Given the description of an element on the screen output the (x, y) to click on. 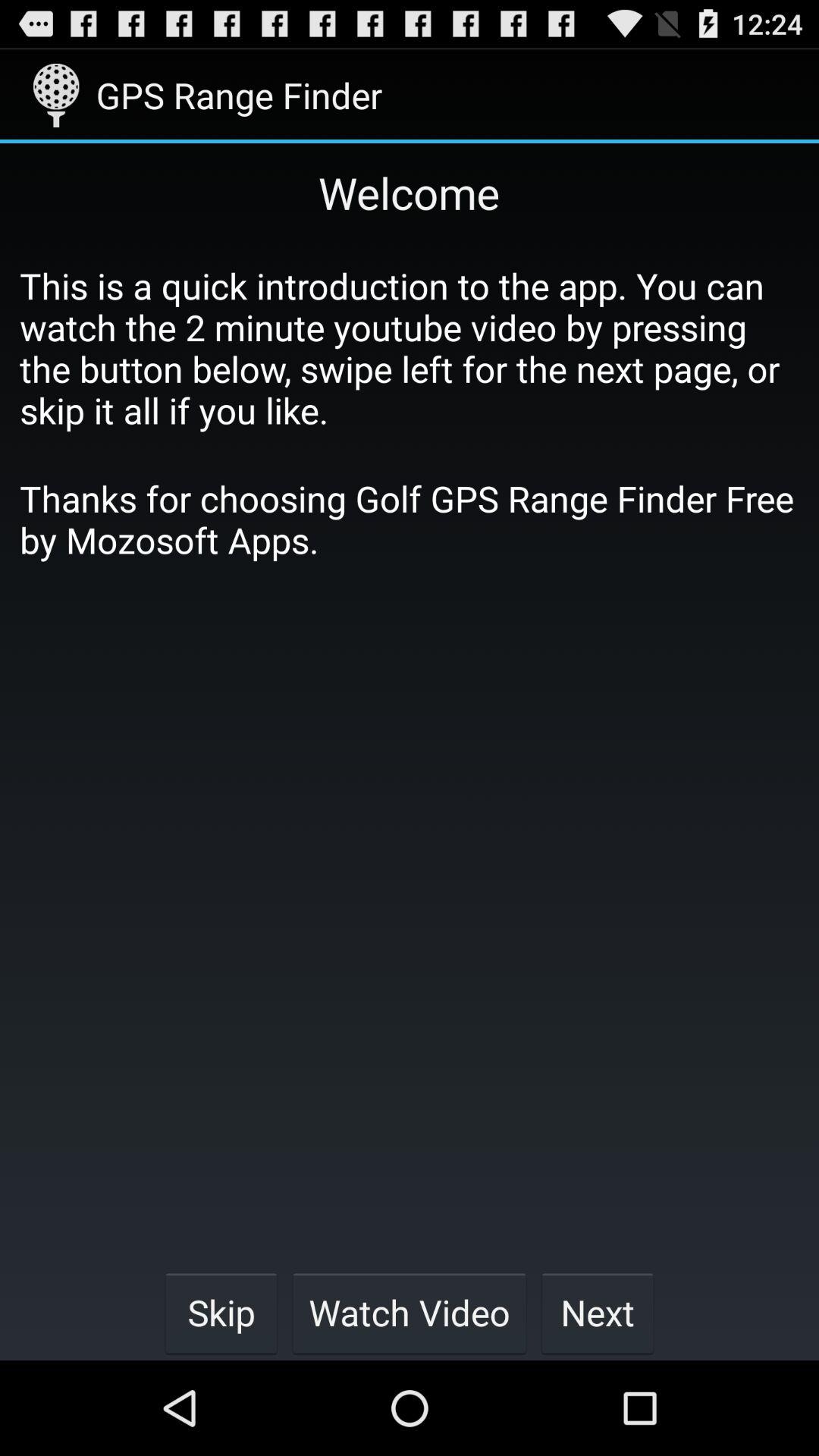
tap the item below thanks for choosing (220, 1312)
